Given the description of an element on the screen output the (x, y) to click on. 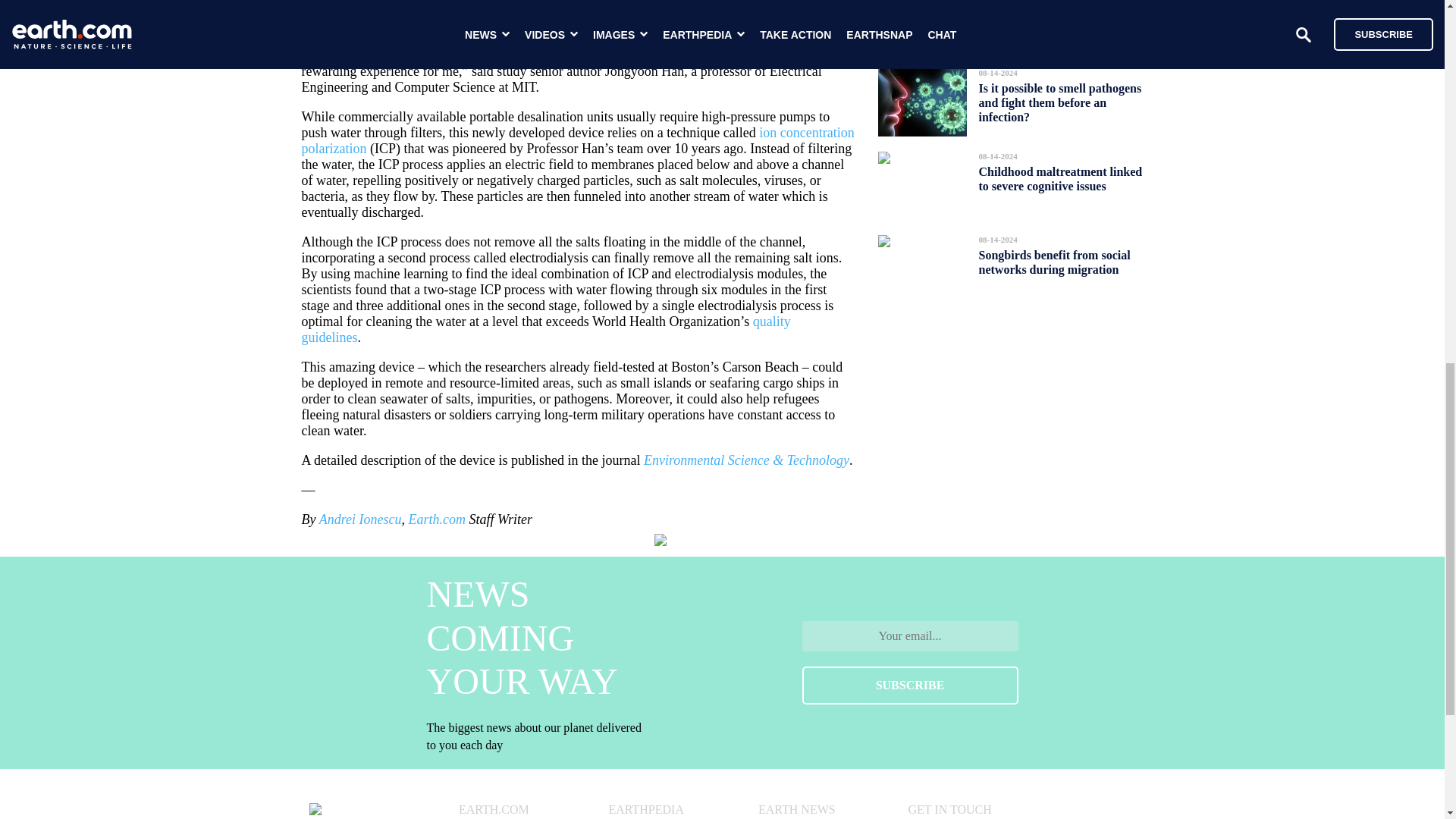
quality guidelines (545, 328)
Songbirds benefit from social networks during migration (1053, 261)
Earth.com (436, 519)
Childhood maltreatment linked to severe cognitive issues (1059, 178)
ion concentration polarization (577, 140)
Andrei Ionescu (359, 519)
